Given the description of an element on the screen output the (x, y) to click on. 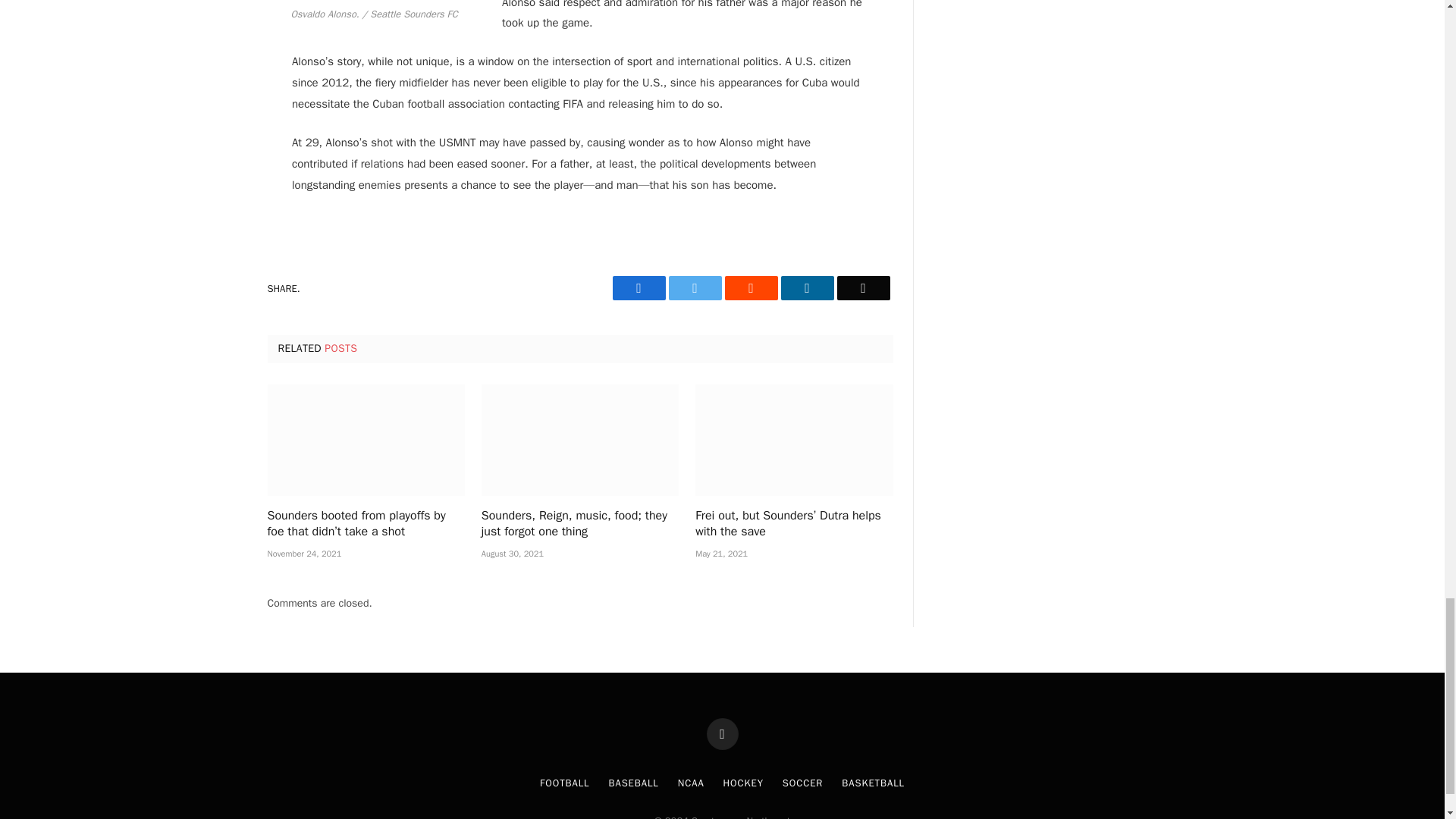
Reddit (751, 288)
Twitter (695, 288)
Facebook (638, 288)
LinkedIn (807, 288)
